Given the description of an element on the screen output the (x, y) to click on. 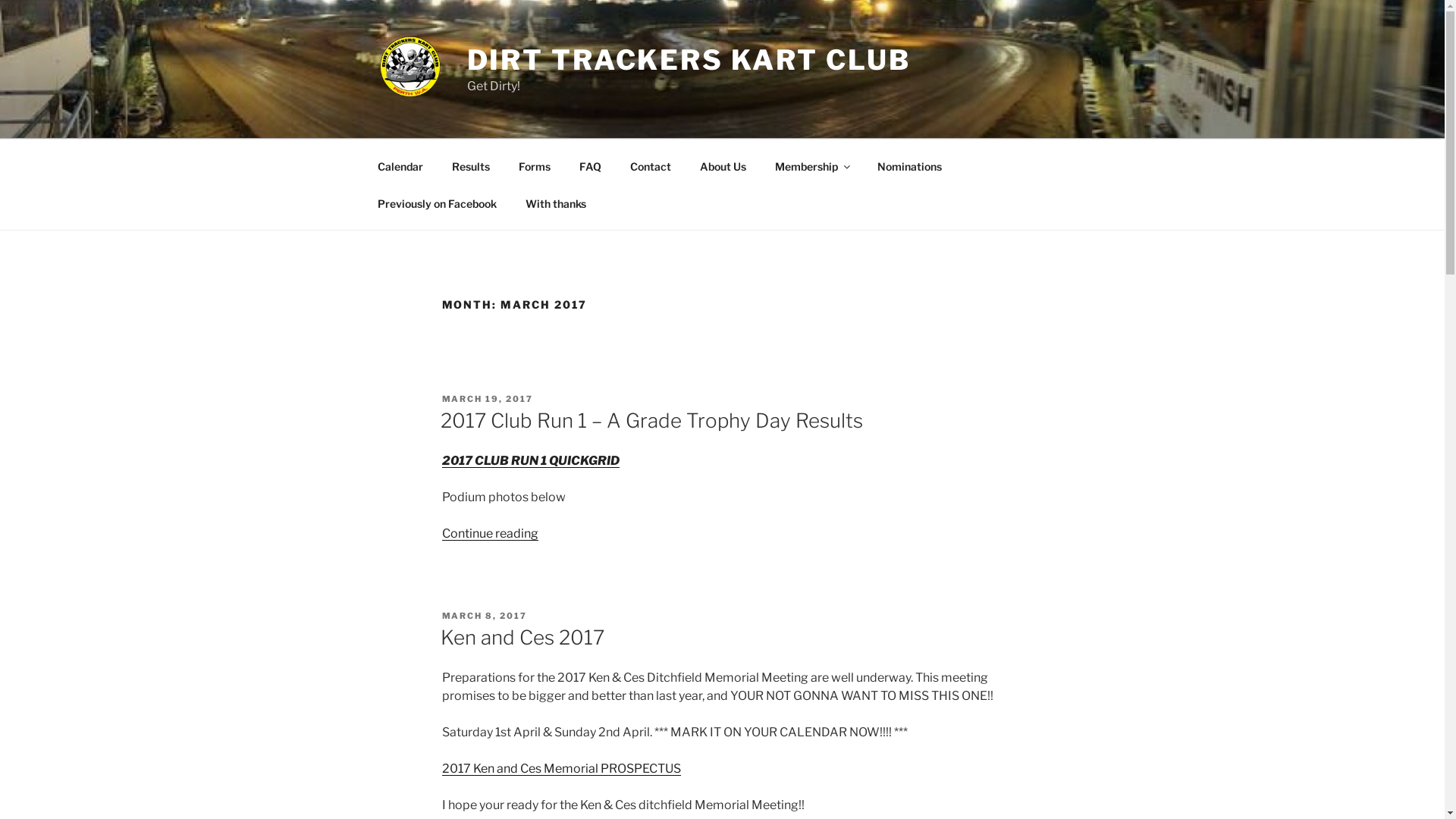
Calendar Element type: text (400, 165)
FAQ Element type: text (589, 165)
Membership Element type: text (811, 165)
With thanks Element type: text (555, 203)
Forms Element type: text (534, 165)
Nominations Element type: text (909, 165)
MARCH 19, 2017 Element type: text (487, 398)
Contact Element type: text (650, 165)
2017 CLUB RUN 1 QUICKGRID Element type: text (529, 460)
About Us Element type: text (723, 165)
Ken and Ces 2017 Element type: text (521, 637)
Results Element type: text (470, 165)
Previously on Facebook Element type: text (436, 203)
MARCH 8, 2017 Element type: text (484, 615)
2017 Ken and Ces Memorial PROSPECTUS Element type: text (560, 768)
DIRT TRACKERS KART CLUB Element type: text (688, 59)
